Given the description of an element on the screen output the (x, y) to click on. 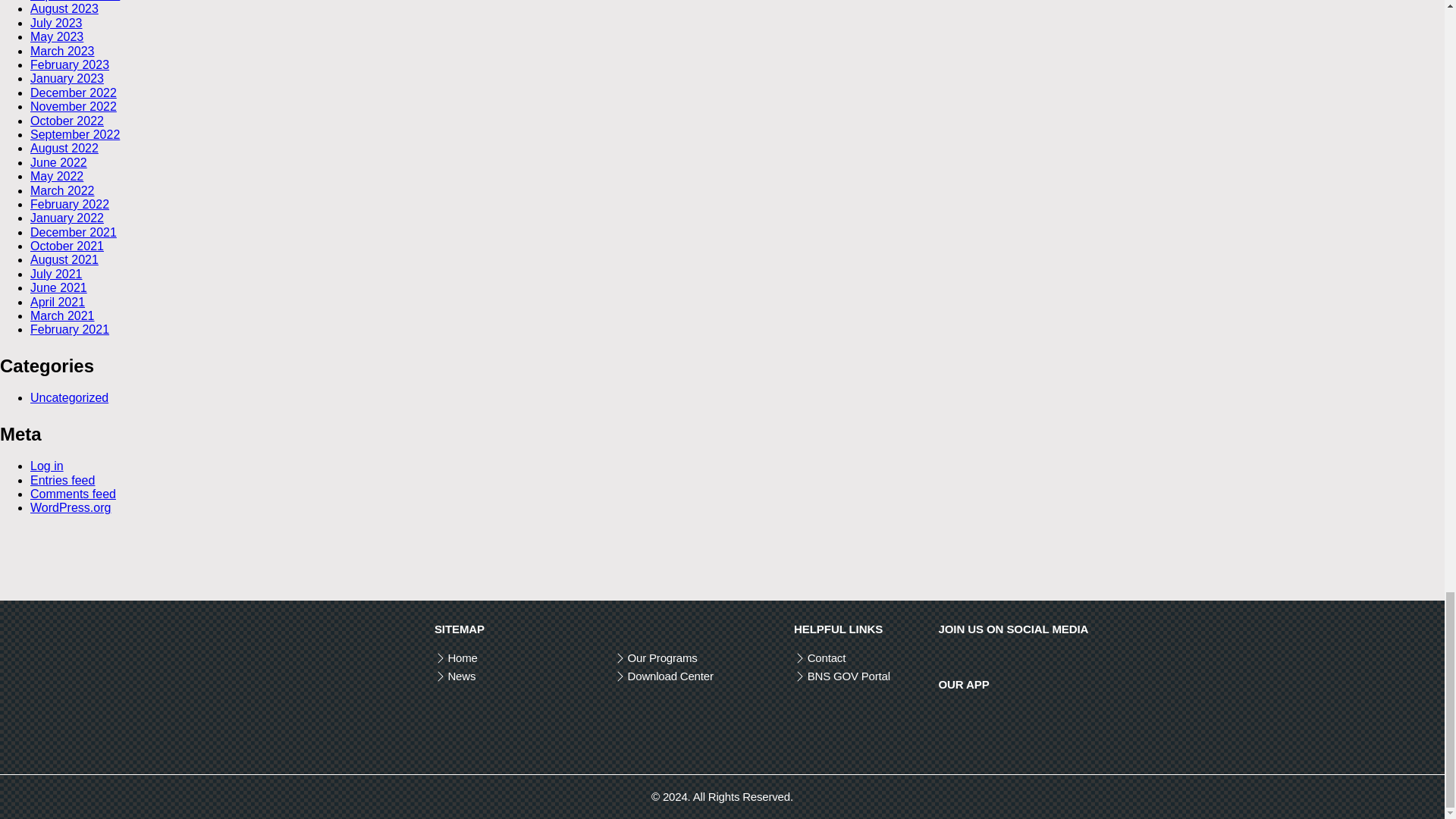
Facebook (945, 656)
Download from Google Play (1067, 730)
Twitter (967, 656)
Instagram (988, 656)
Youtube (1008, 656)
Download from App Store (981, 730)
